Given the description of an element on the screen output the (x, y) to click on. 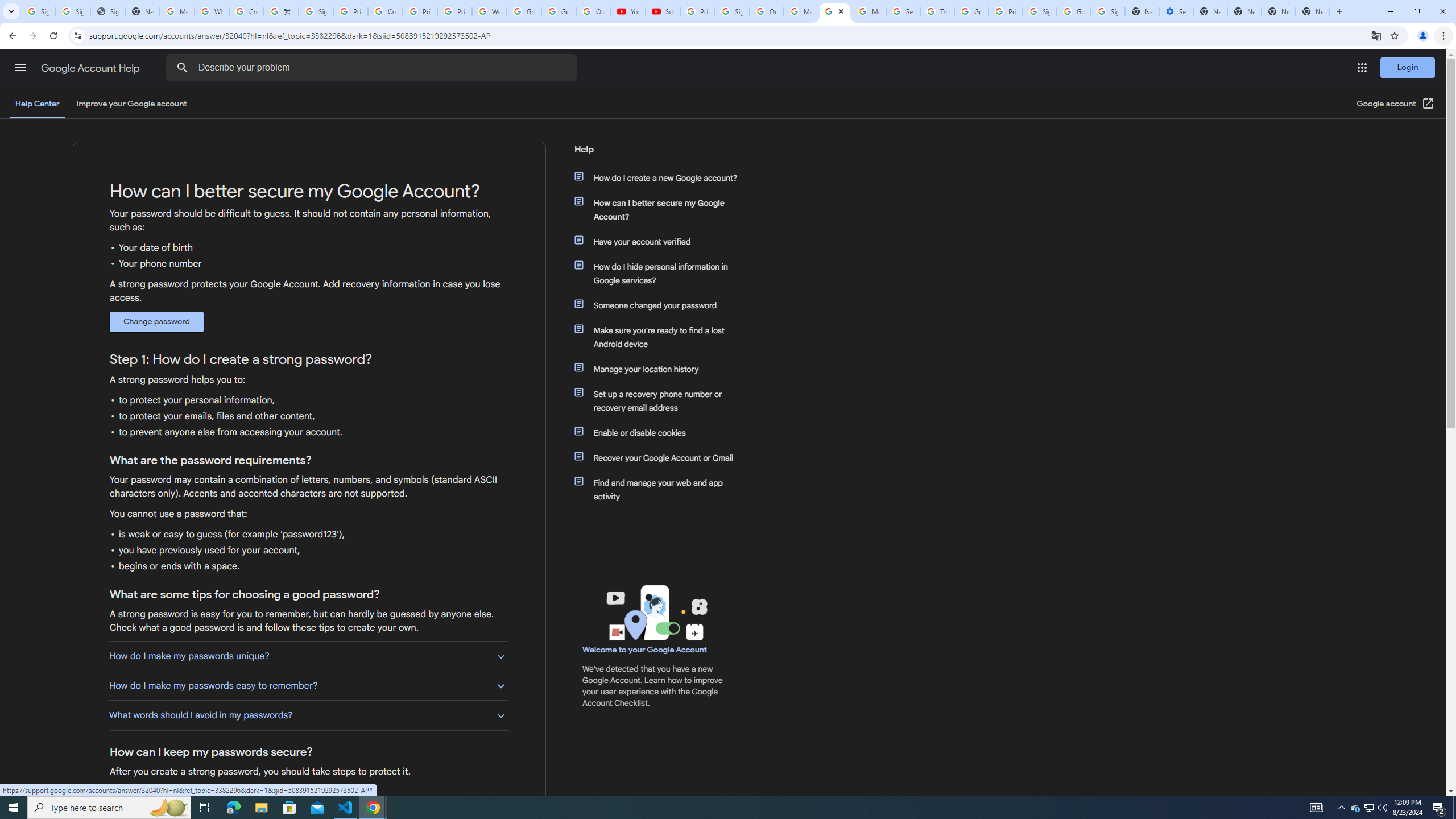
Describe your problem (373, 67)
Who is my administrator? - Google Account Help (211, 11)
Have your account verified (661, 241)
Sign in - Google Accounts (1039, 11)
Recover your Google Account or Gmail (661, 457)
Welcome to My Activity (489, 11)
Sign in - Google Accounts (315, 11)
